Given the description of an element on the screen output the (x, y) to click on. 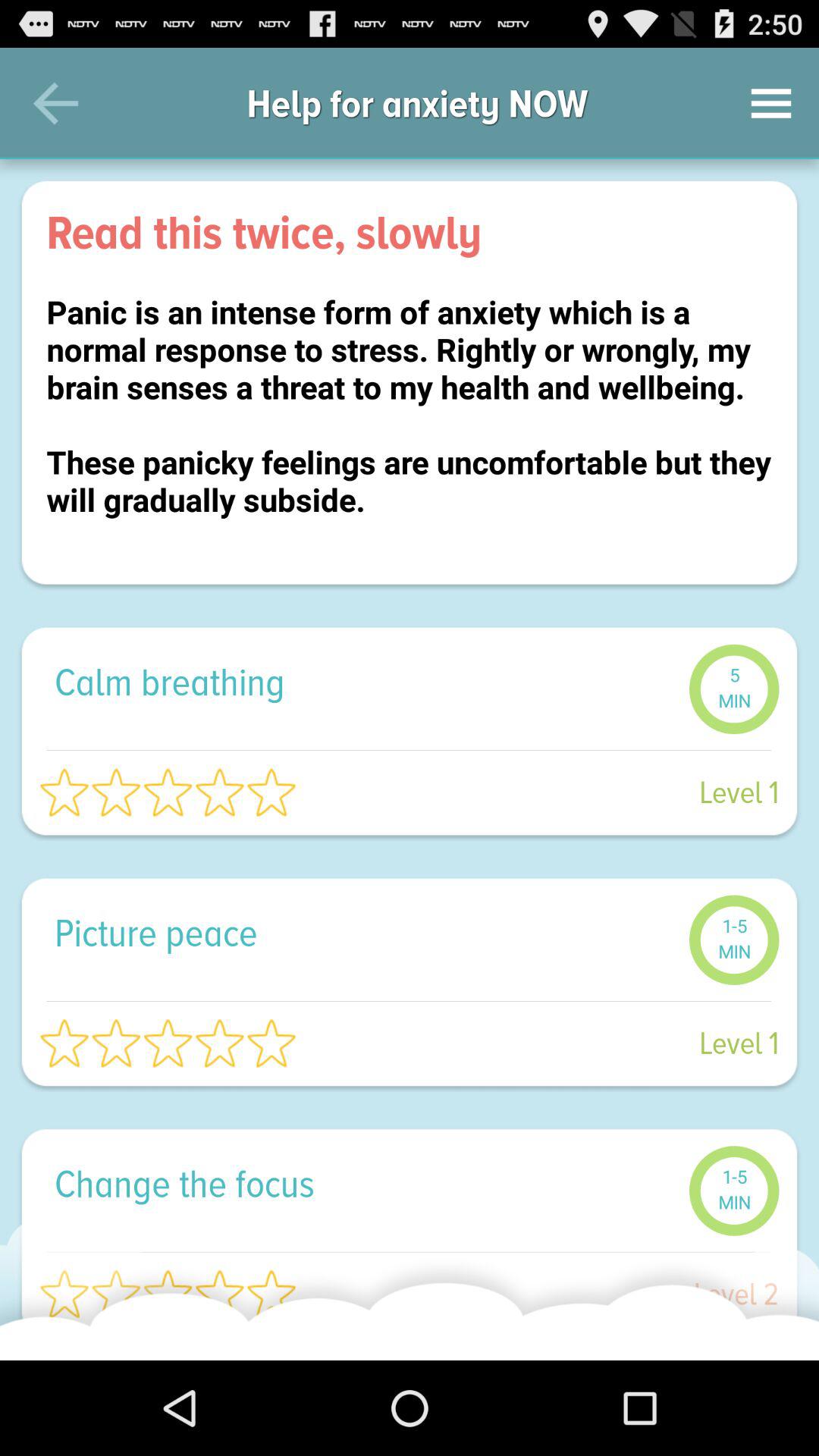
open item above panic is an (409, 231)
